Given the description of an element on the screen output the (x, y) to click on. 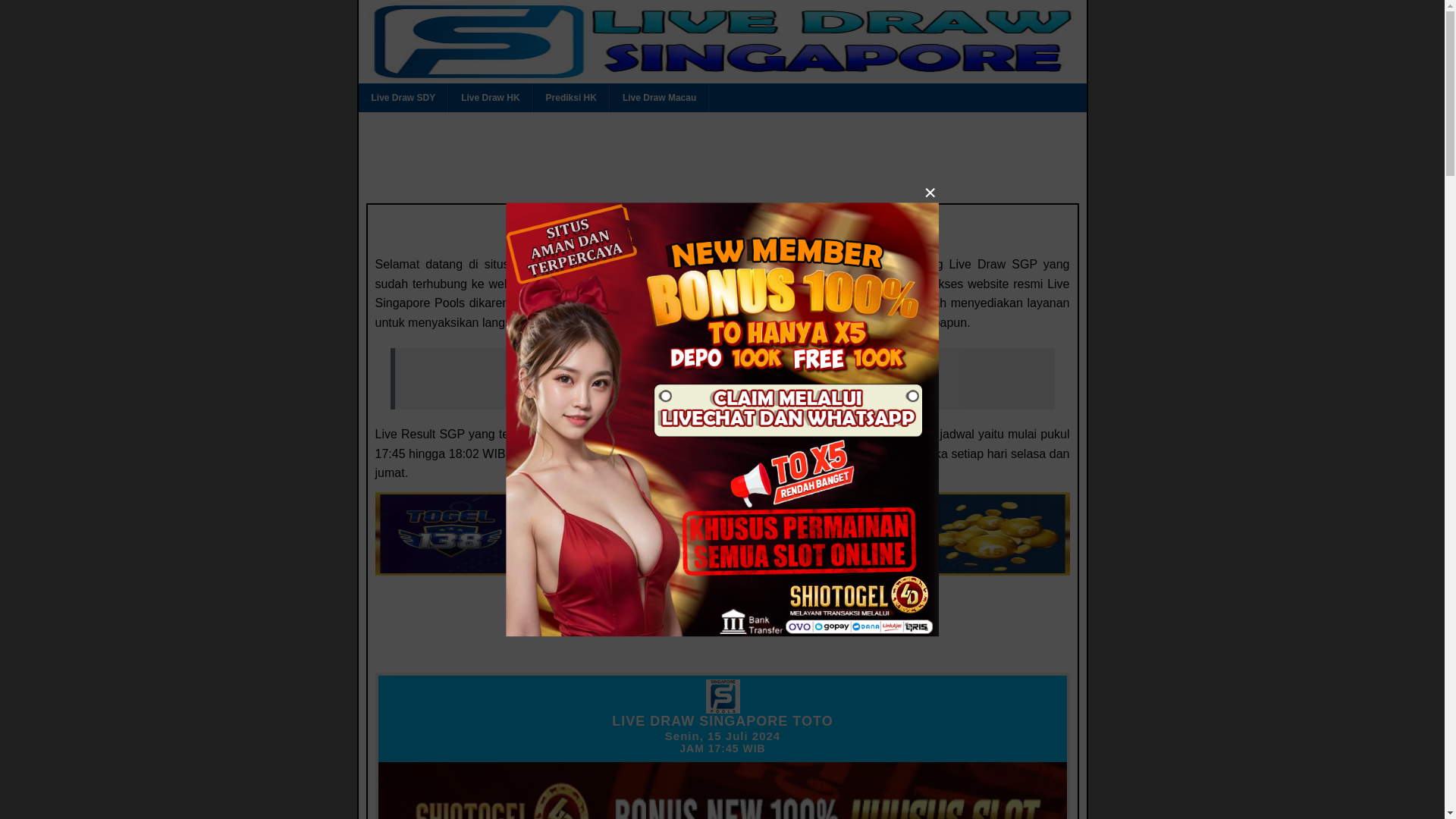
Live Draw Singapore (723, 381)
Live Draw Singapore (725, 381)
Live Draw SDY (403, 97)
Live Draw SDY (403, 97)
Prediksi HK (571, 97)
Live Draw HK (489, 97)
Live Draw Macau (658, 97)
Live Draw Macau (658, 97)
Live Draw HK (489, 97)
Live Draw SGP (721, 232)
Prediksi HK (571, 97)
